Given the description of an element on the screen output the (x, y) to click on. 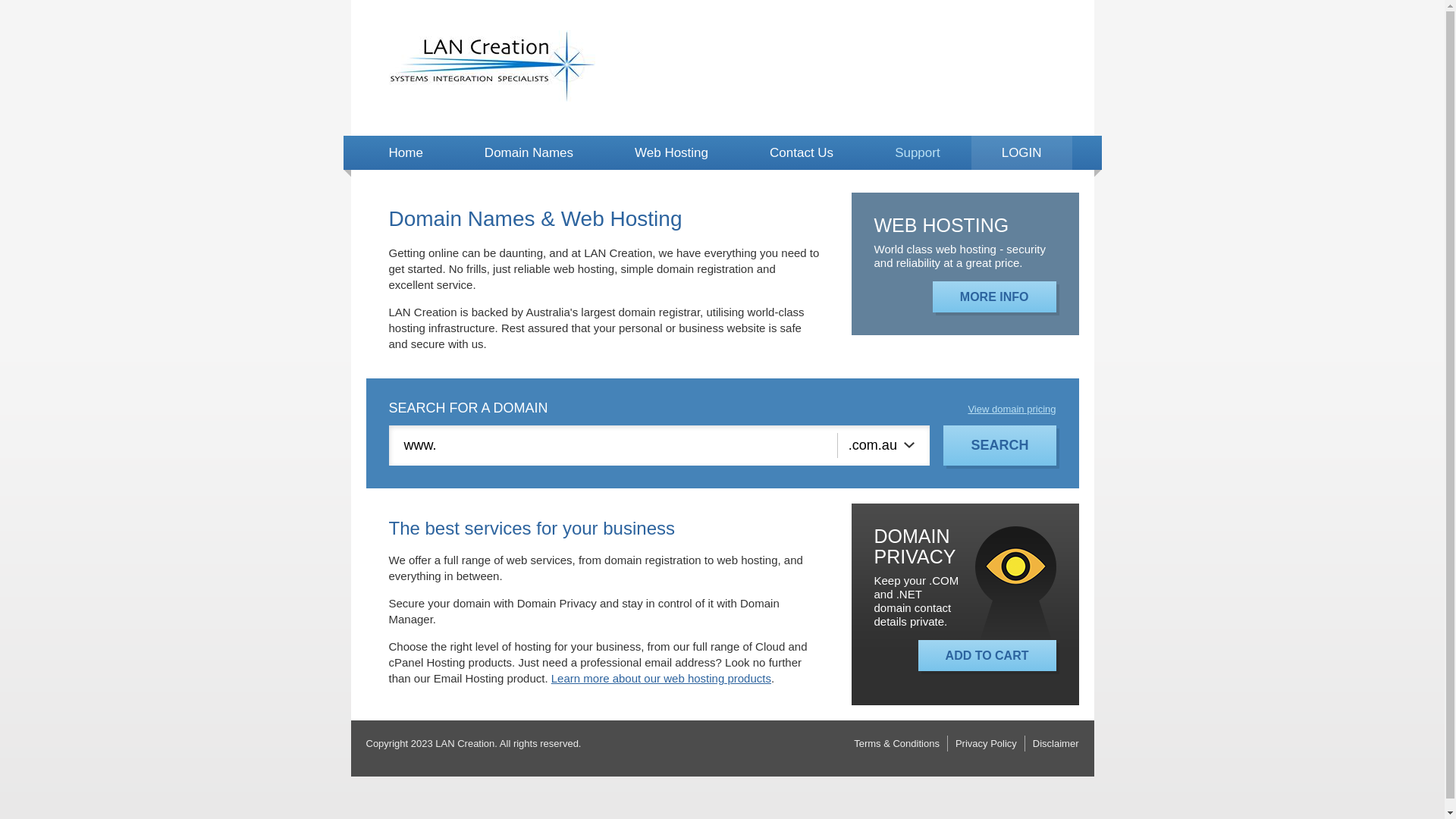
Home Element type: text (404, 152)
Terms & Conditions Element type: text (896, 743)
MORE INFO Element type: text (994, 295)
Contact Us Element type: text (801, 152)
Disclaimer Element type: text (1055, 743)
Search Element type: text (999, 445)
Learn more about our web hosting products Element type: text (661, 677)
Privacy Policy Element type: text (985, 743)
Support Element type: text (917, 152)
Domain Names Element type: text (528, 152)
ADD TO CART Element type: text (987, 655)
Web Hosting Element type: text (671, 152)
LOGIN Element type: text (1021, 152)
View domain pricing Element type: text (1011, 409)
